Given the description of an element on the screen output the (x, y) to click on. 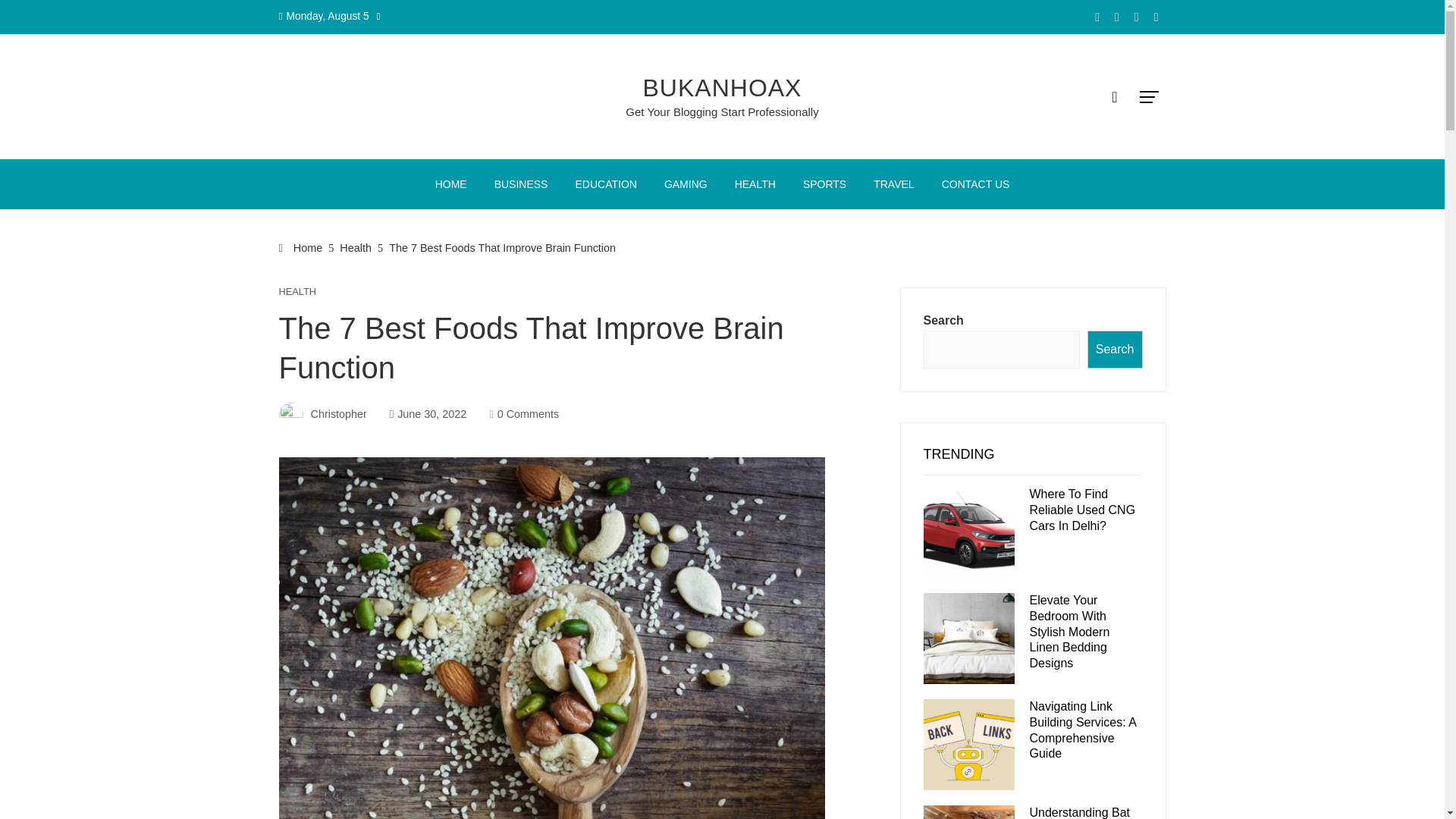
HEALTH (755, 183)
CONTACT US (976, 183)
HEALTH (298, 292)
TRAVEL (892, 183)
SPORTS (824, 183)
EDUCATION (605, 183)
BUSINESS (521, 183)
Get Your Blogging Start Professionally (722, 111)
GAMING (685, 183)
BUKANHOAX (722, 87)
